Given the description of an element on the screen output the (x, y) to click on. 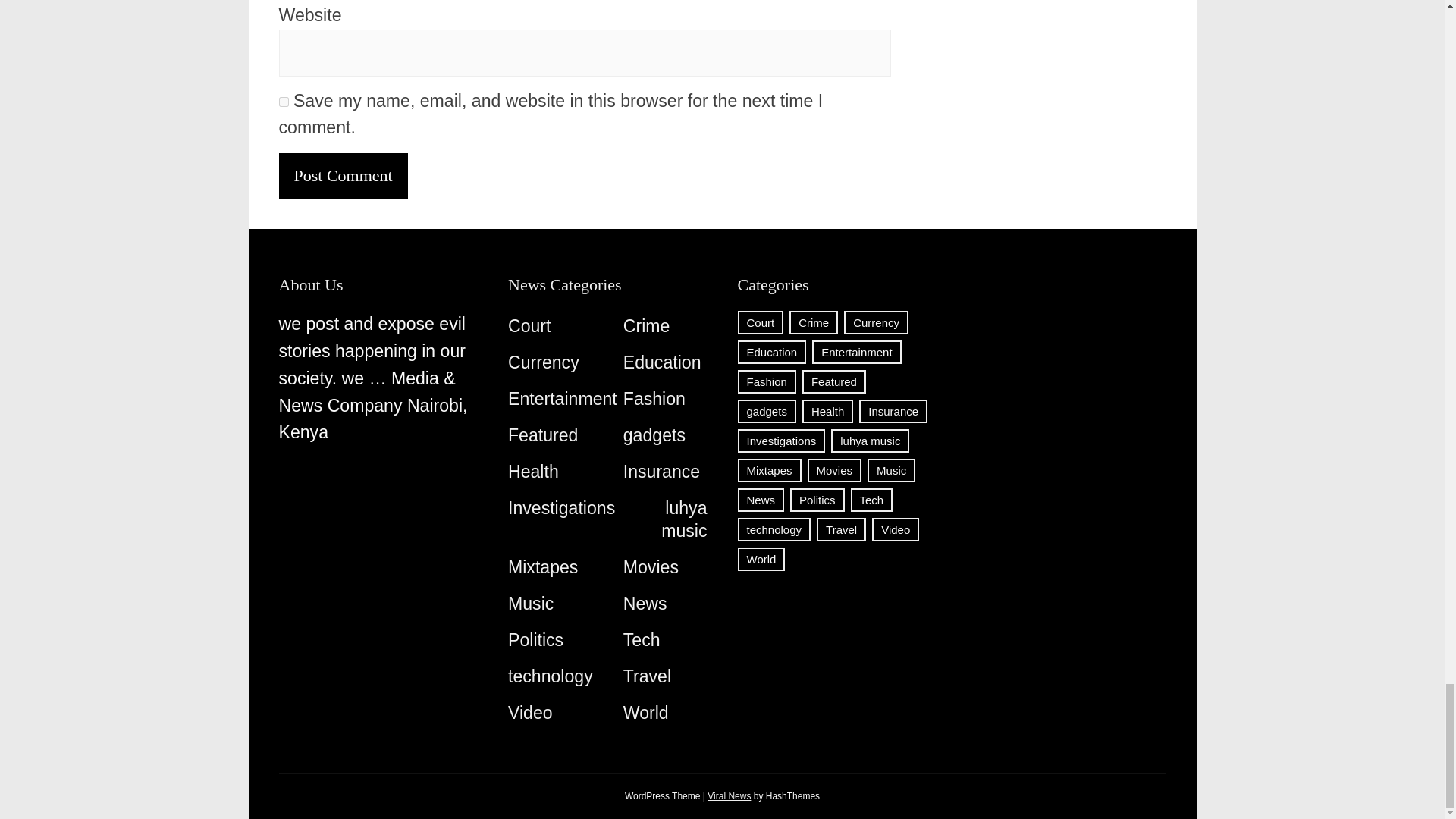
yes (283, 102)
Download Viral News (729, 796)
Education (662, 362)
Entertainment (562, 398)
Post Comment (343, 176)
Crime (646, 325)
Post Comment (343, 176)
Court (529, 325)
Currency (543, 362)
